Given the description of an element on the screen output the (x, y) to click on. 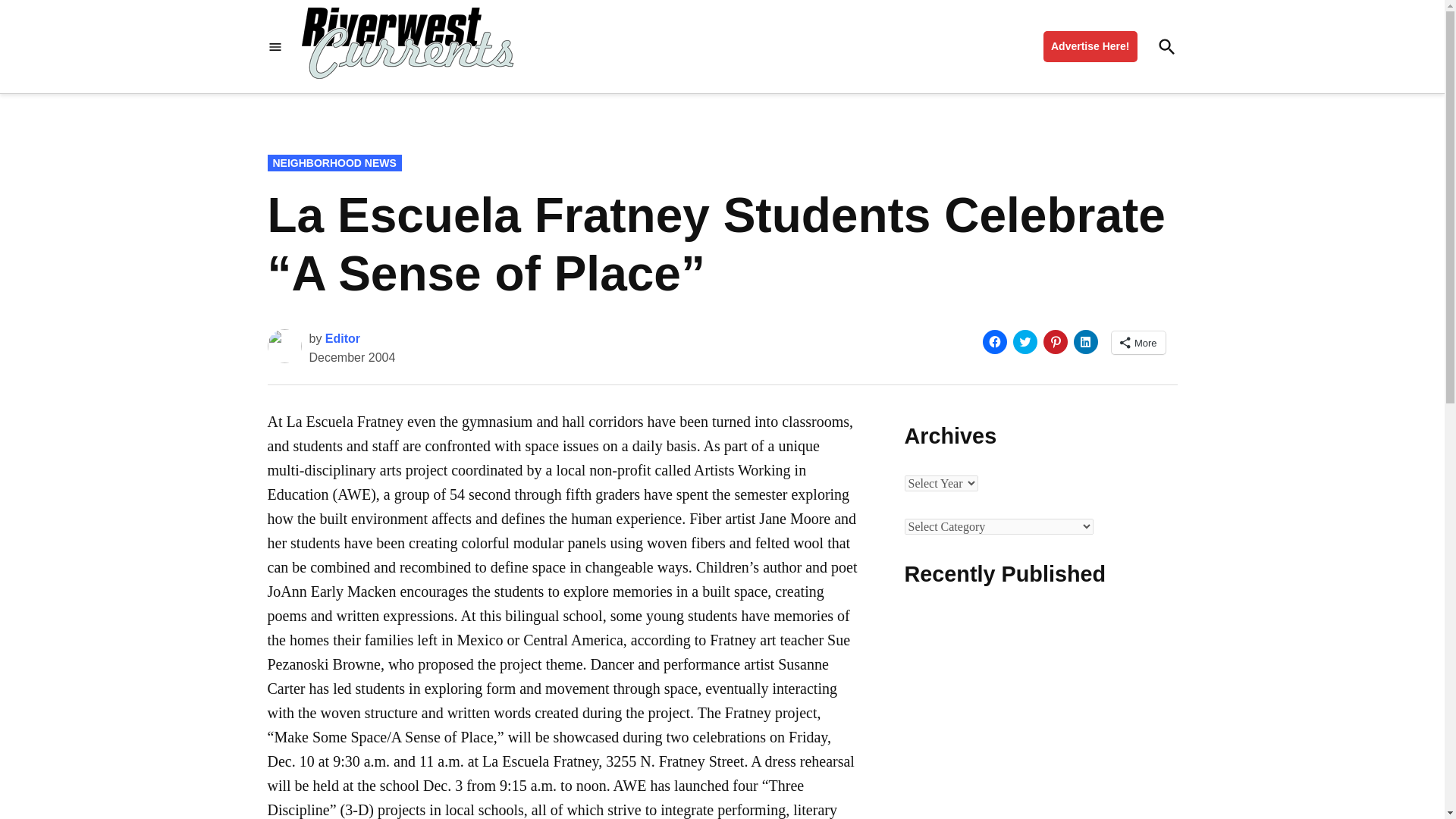
Menu (274, 46)
Click to share on Twitter (1024, 341)
Advertise Here! (1090, 46)
Click to share on Facebook (994, 341)
